Given the description of an element on the screen output the (x, y) to click on. 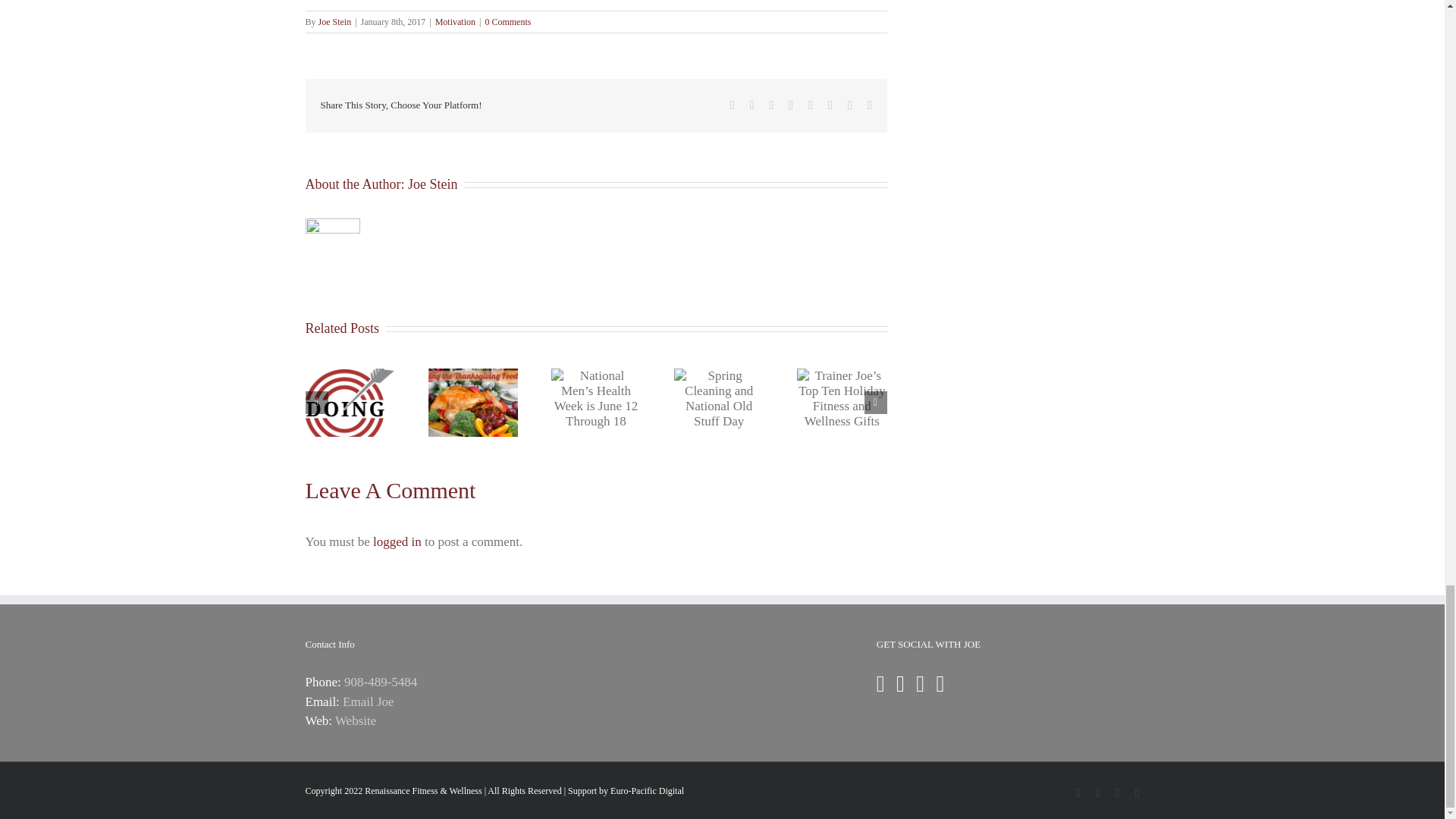
Motivation (455, 21)
0 Comments (507, 21)
Joe Stein (335, 21)
Posts by Joe Stein (432, 183)
Posts by Joe Stein (335, 21)
